Given the description of an element on the screen output the (x, y) to click on. 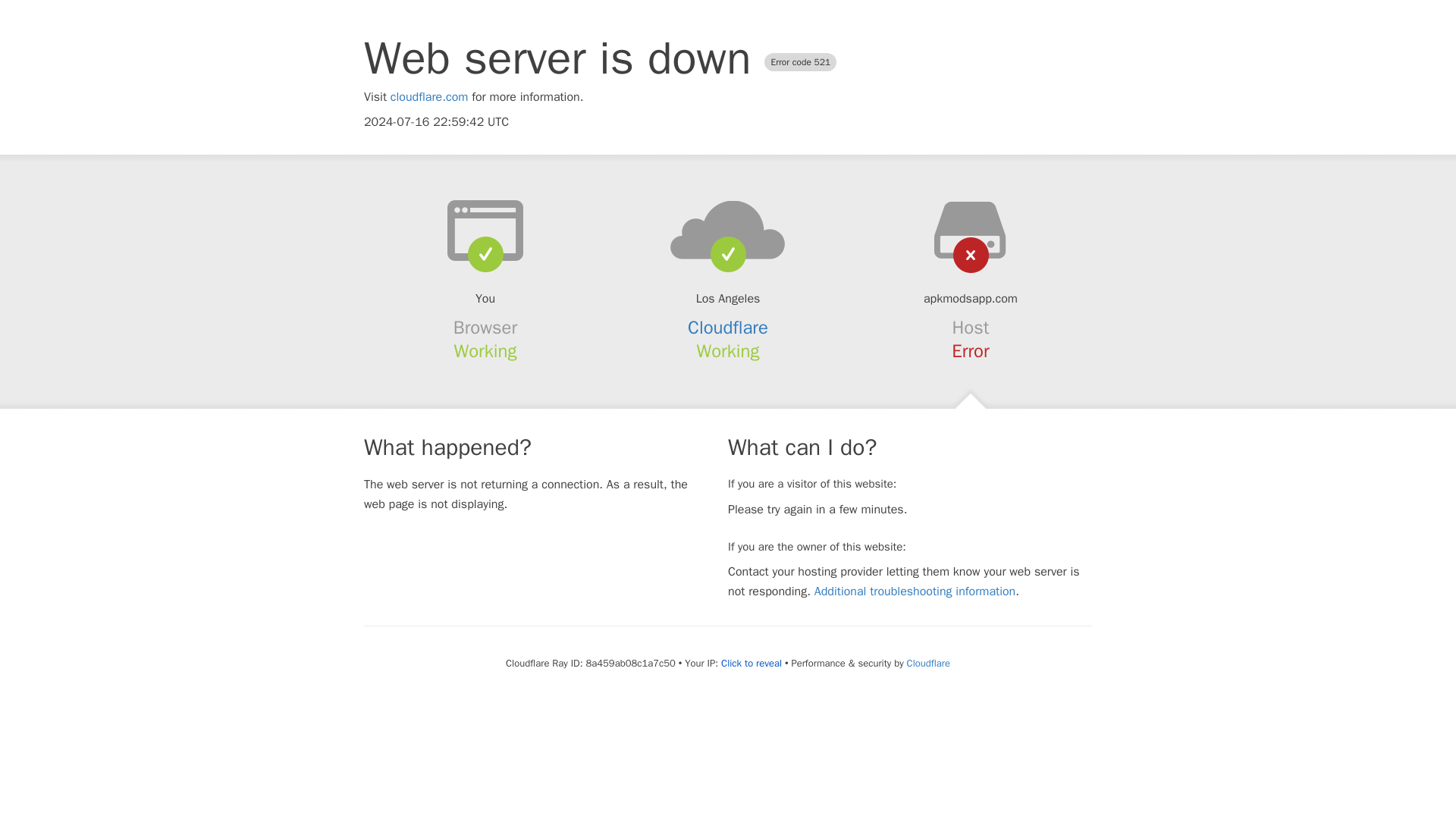
Click to reveal (750, 663)
cloudflare.com (429, 96)
Cloudflare (727, 327)
Cloudflare (928, 662)
Additional troubleshooting information (913, 590)
